Given the description of an element on the screen output the (x, y) to click on. 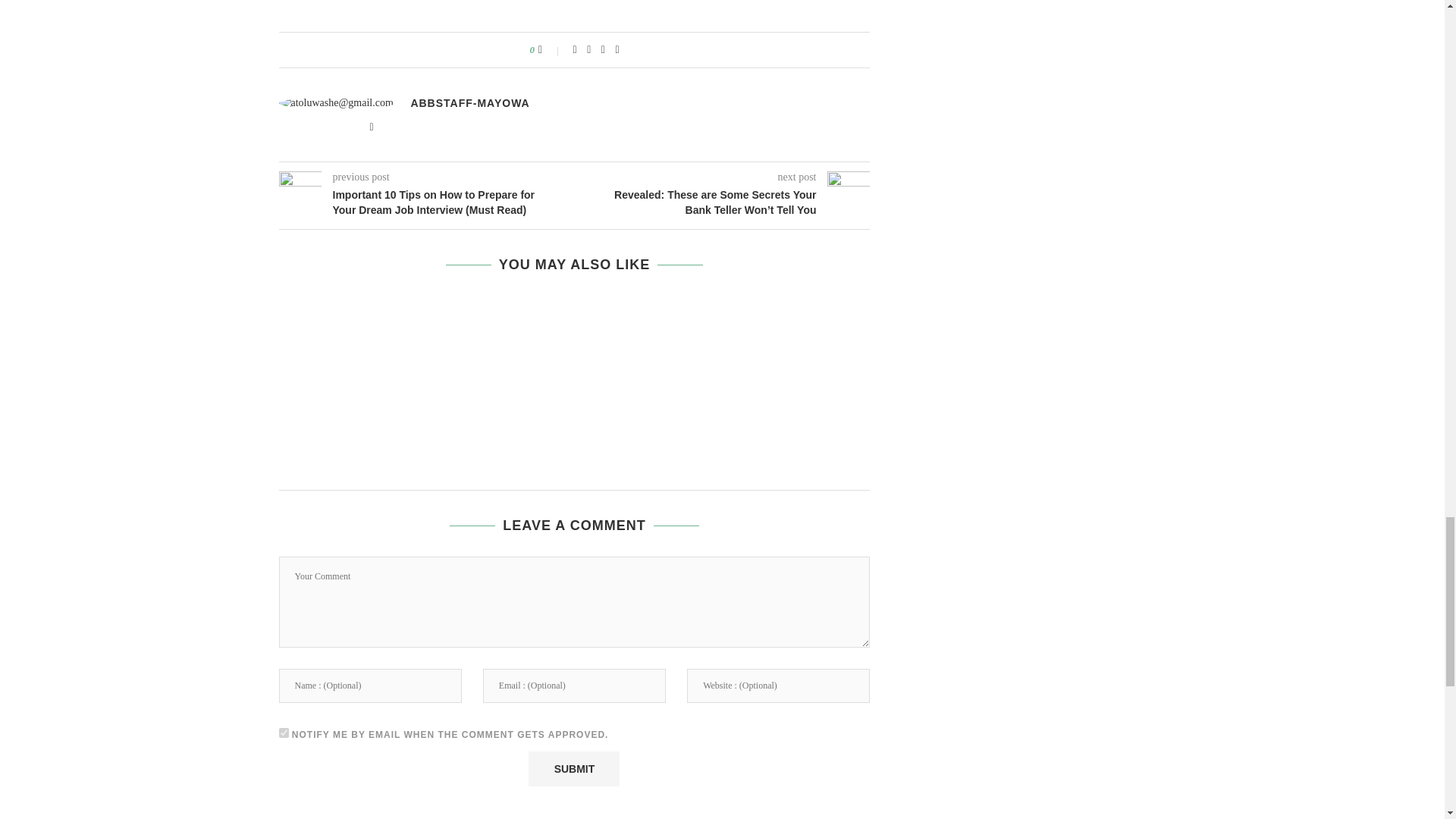
Posts by ABBStaff-Mayowa (469, 102)
Submit (574, 768)
Like (550, 50)
1 (283, 732)
